Given the description of an element on the screen output the (x, y) to click on. 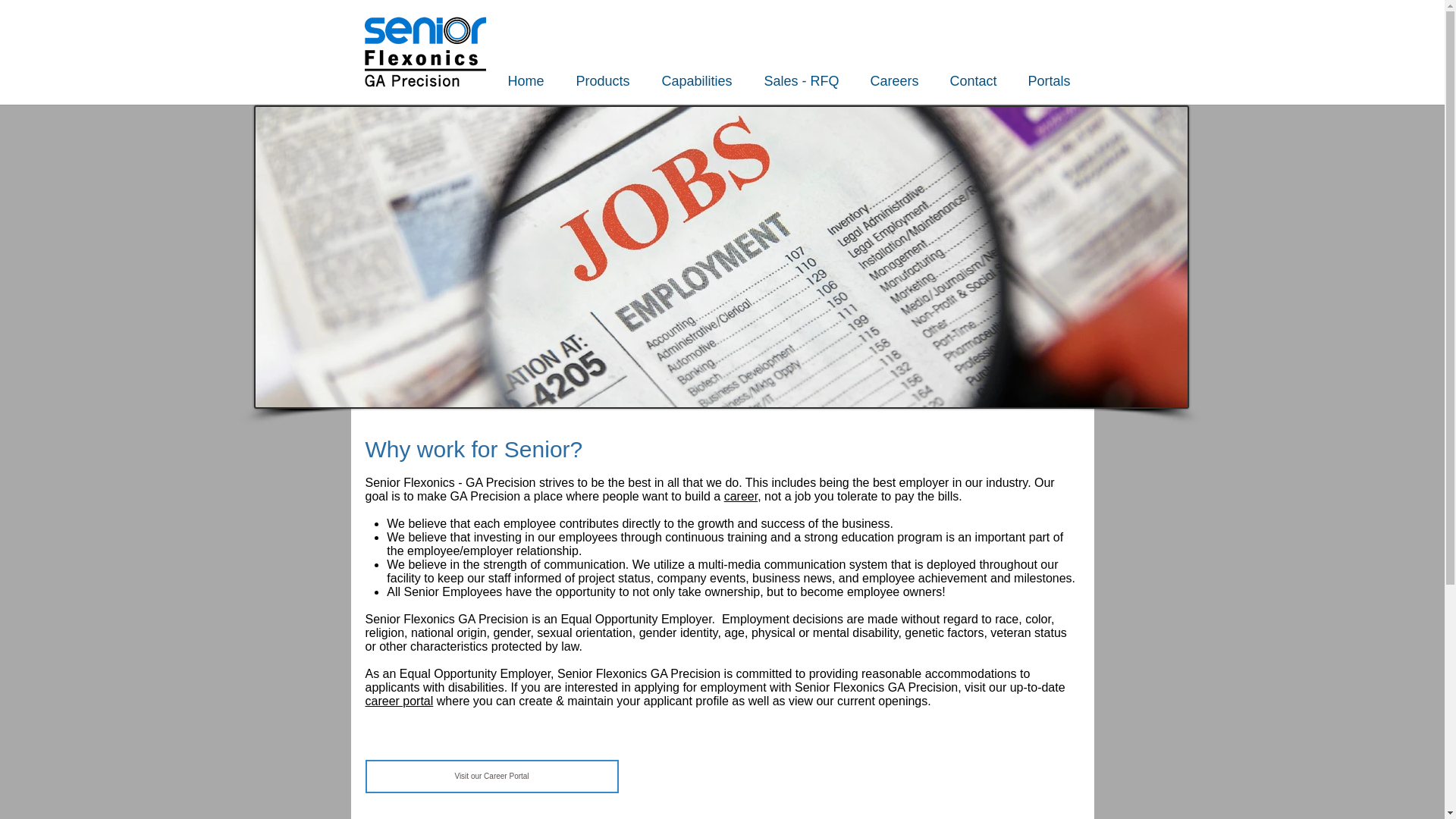
career portal (399, 700)
Portals (1057, 80)
Sales - RFQ (810, 80)
Visit our Career Portal (491, 776)
Careers (902, 80)
Capabilities (704, 80)
Products (611, 80)
Contact (981, 80)
Home (534, 80)
